Given the description of an element on the screen output the (x, y) to click on. 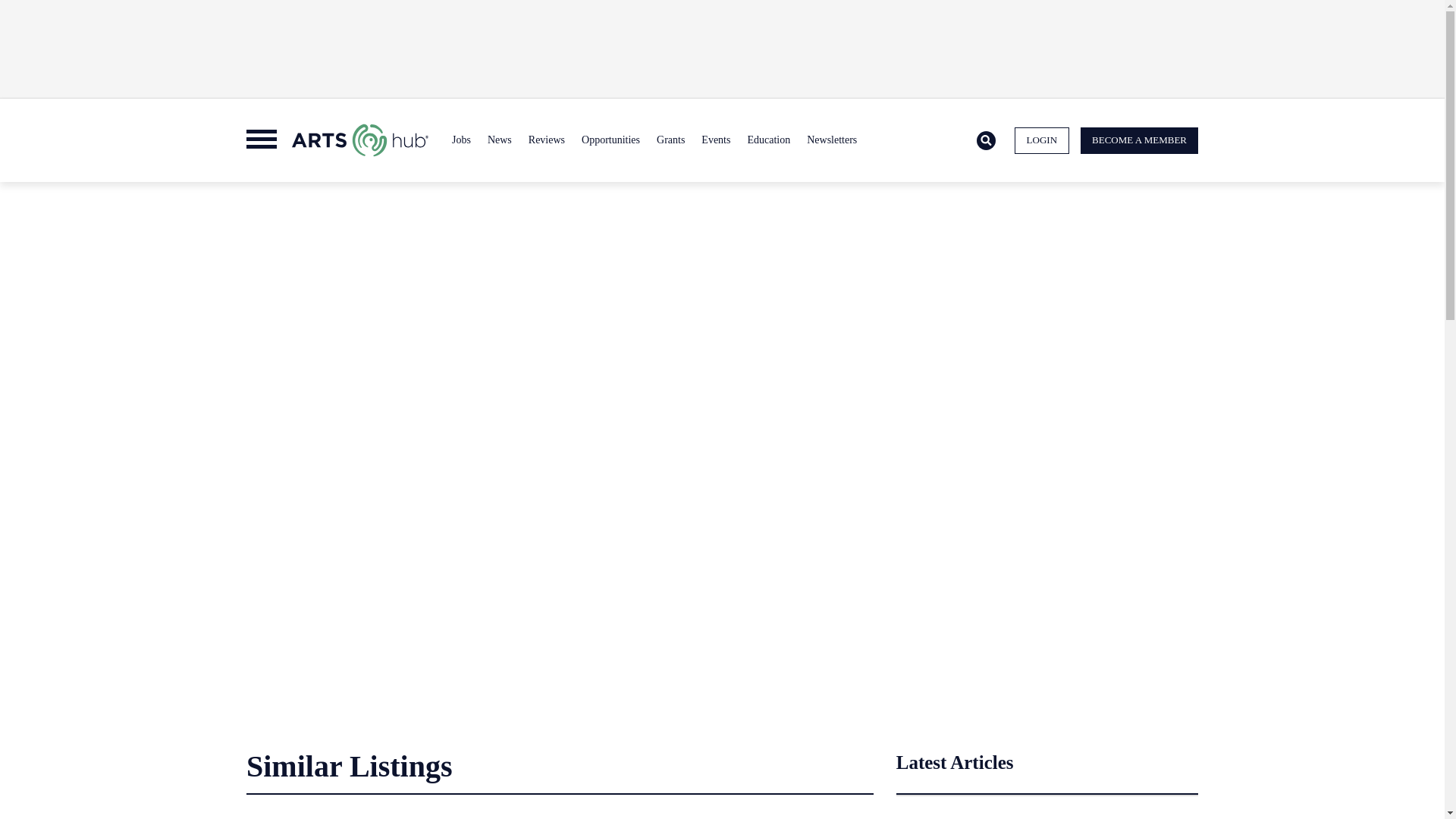
Events (715, 139)
News (498, 139)
Grants (670, 139)
Search Icon (985, 140)
BECOME A MEMBER (1139, 140)
LOGIN (1041, 140)
Jobs (461, 139)
Search Icon (985, 139)
Opportunities (610, 139)
Education (768, 139)
